Given the description of an element on the screen output the (x, y) to click on. 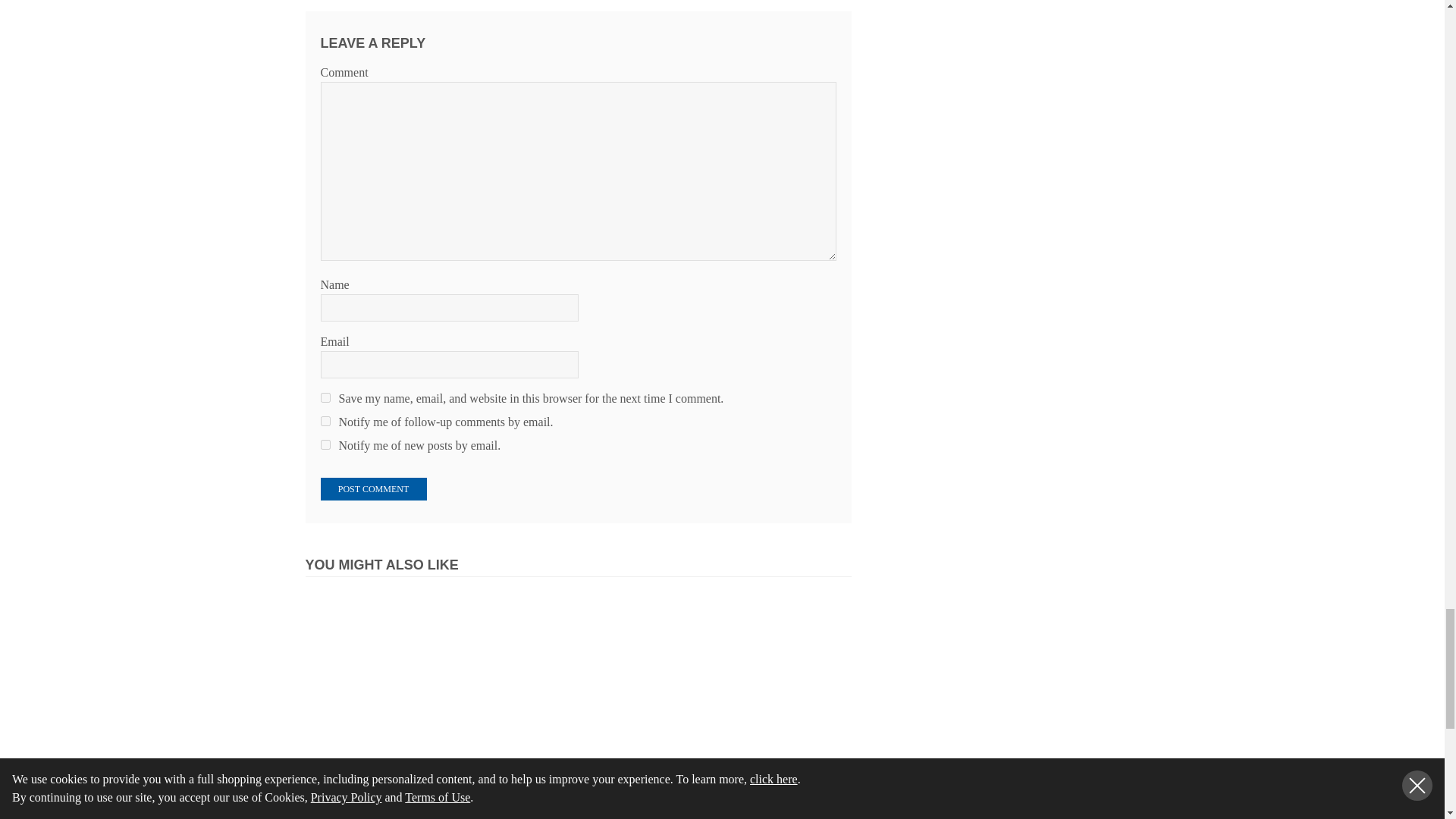
subscribe (325, 444)
yes (325, 397)
subscribe (325, 420)
Post Comment (373, 488)
